Given the description of an element on the screen output the (x, y) to click on. 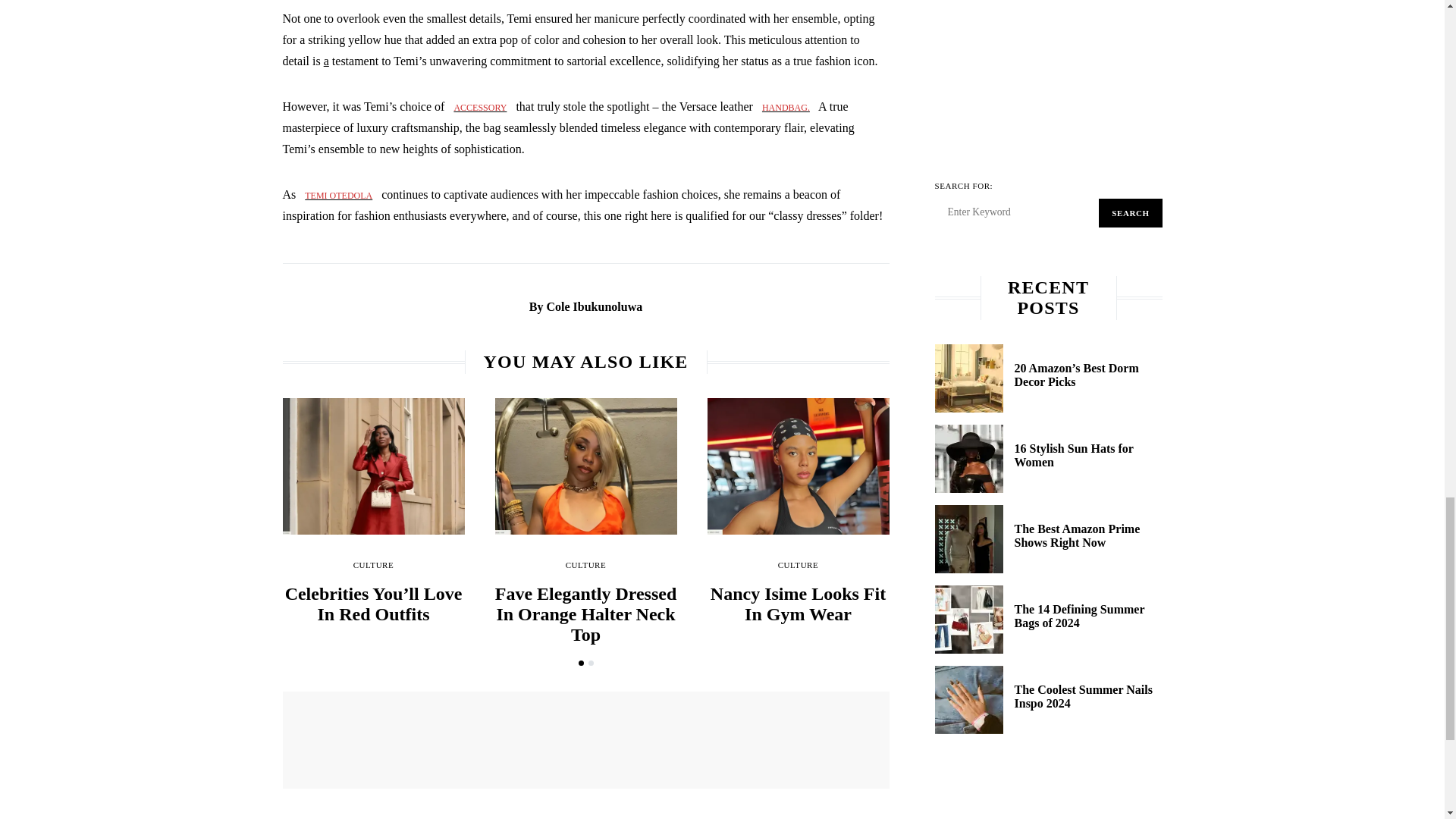
TEMI OTEDOLA (338, 194)
HANDBAG. (785, 106)
ACCESSORY (479, 106)
By Cole Ibukunoluwa (585, 306)
CULTURE (373, 564)
CULTURE (586, 564)
